Given the description of an element on the screen output the (x, y) to click on. 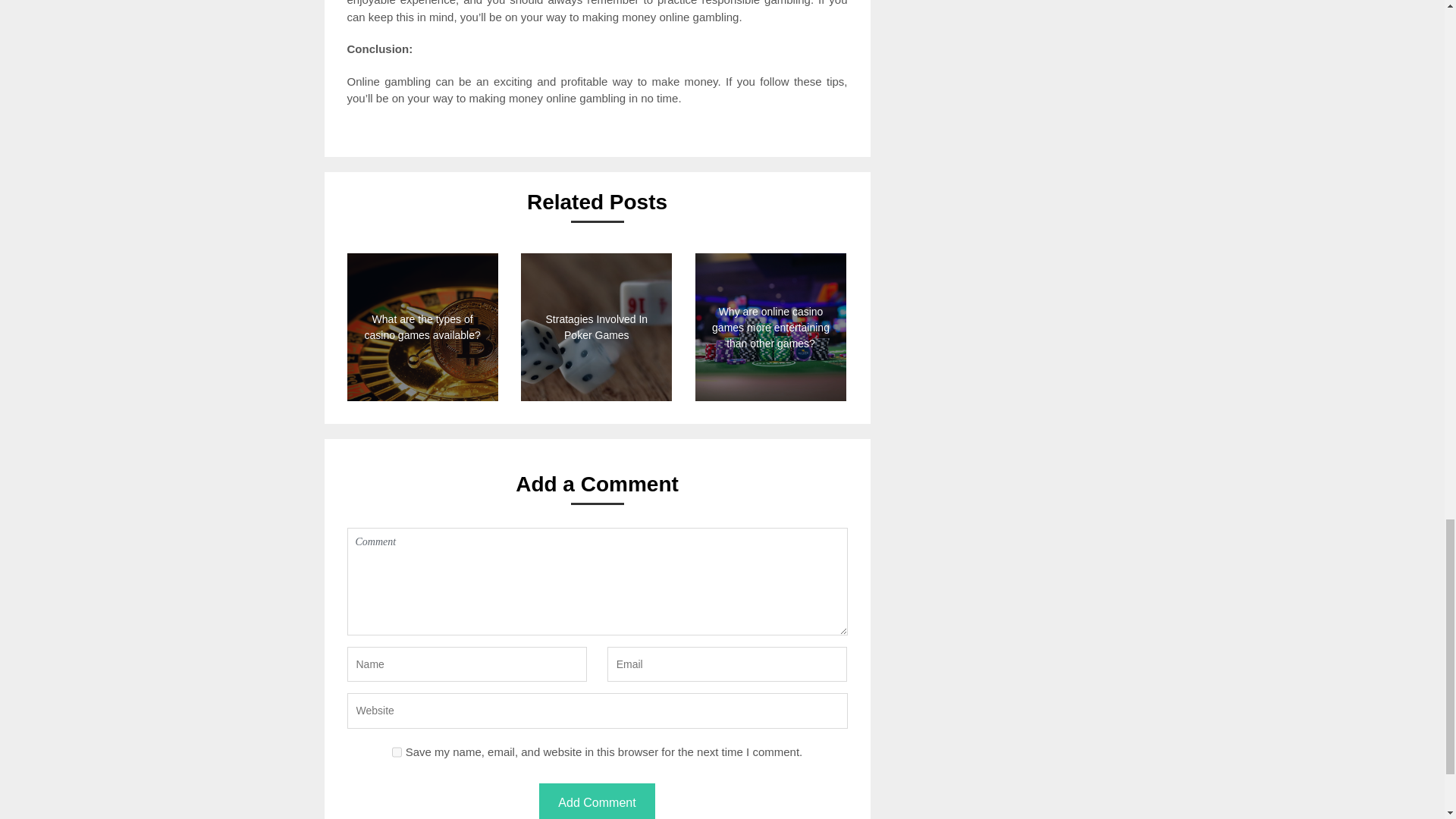
Add Comment (595, 800)
Add Comment (595, 800)
